Given the description of an element on the screen output the (x, y) to click on. 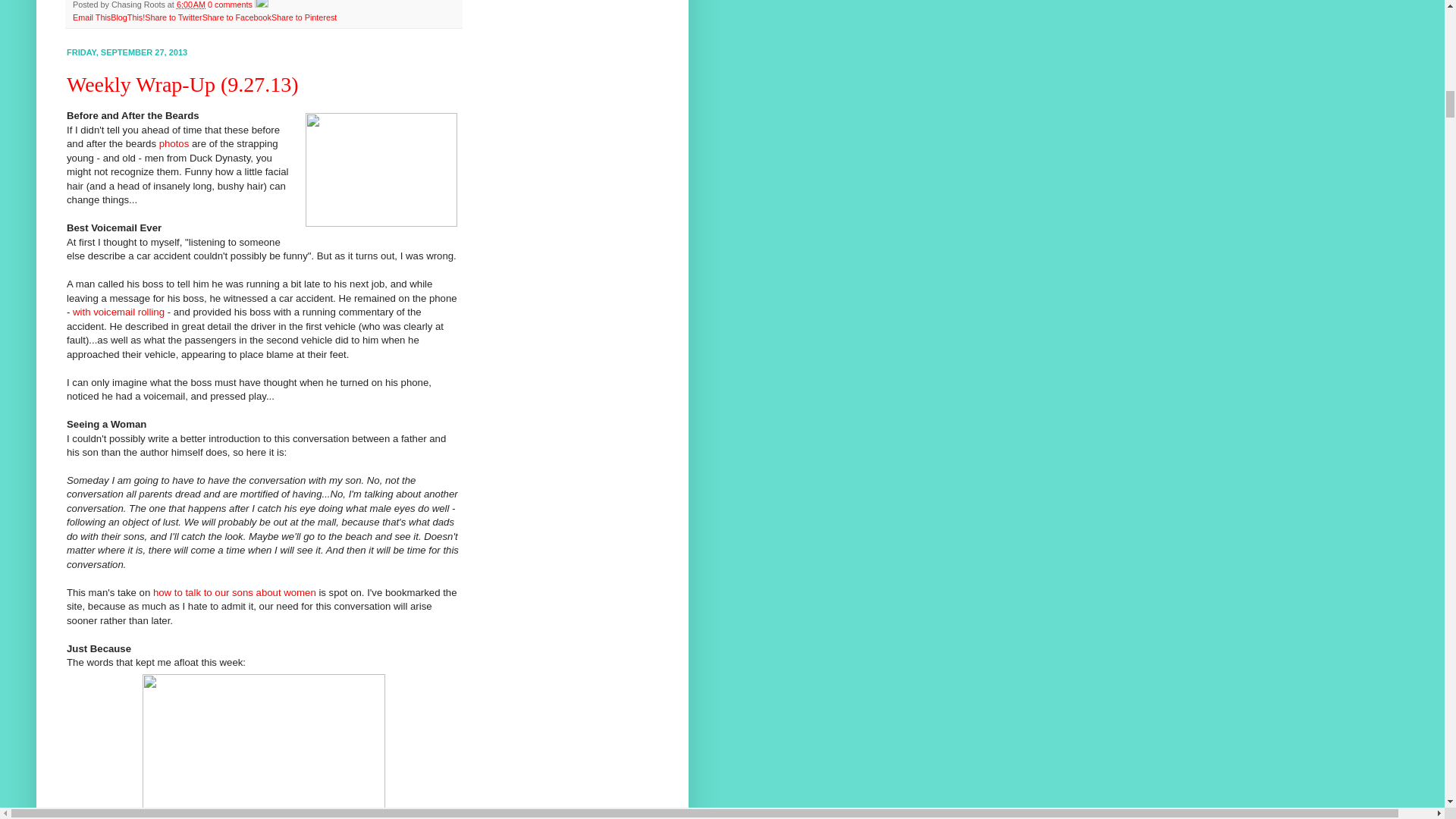
0 comments (229, 4)
BlogThis! (127, 17)
Share to Pinterest (303, 17)
Email This (91, 17)
Share to Twitter (173, 17)
with voicemail rolling (118, 311)
Share to Pinterest (303, 17)
Email This (91, 17)
photos (173, 143)
